Given the description of an element on the screen output the (x, y) to click on. 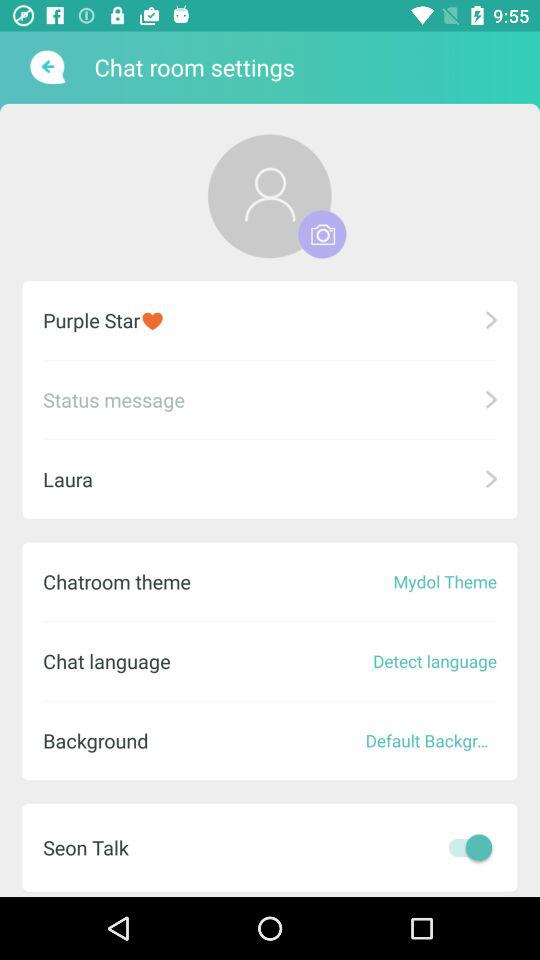
add avatar (322, 234)
